Given the description of an element on the screen output the (x, y) to click on. 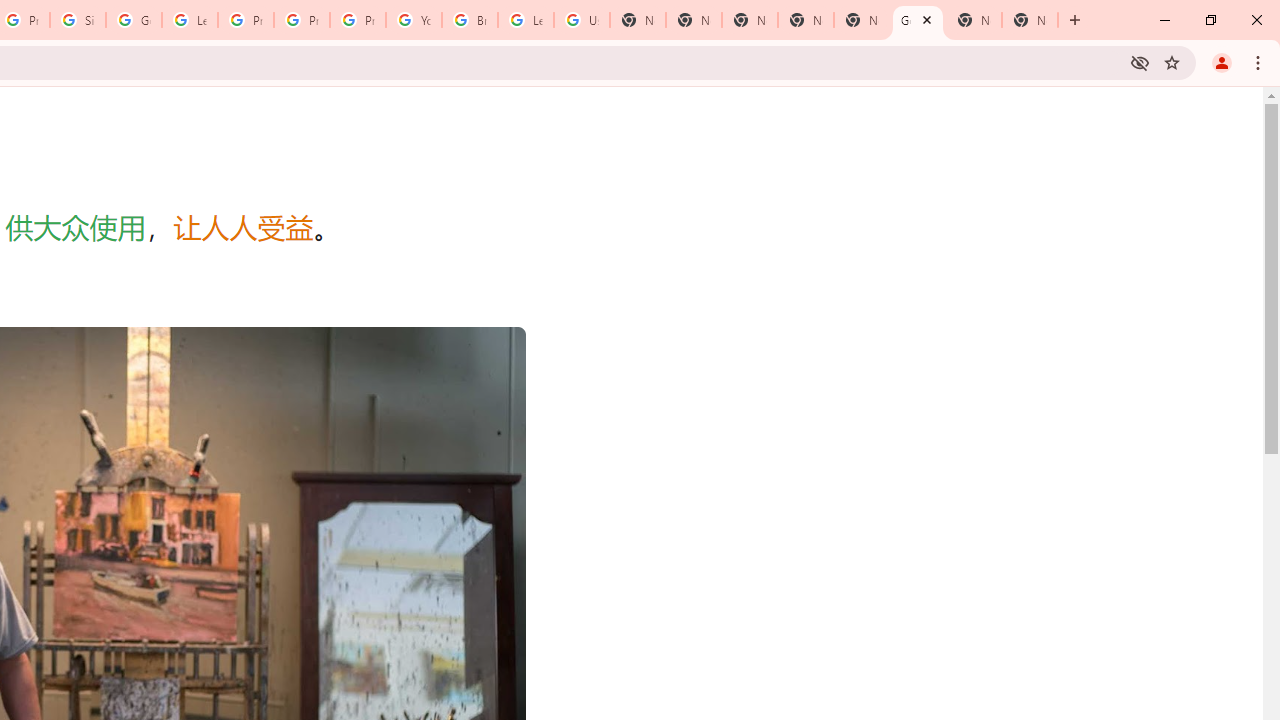
Privacy Help Center - Policies Help (245, 20)
New Tab (1030, 20)
Sign in - Google Accounts (77, 20)
YouTube (413, 20)
